Given the description of an element on the screen output the (x, y) to click on. 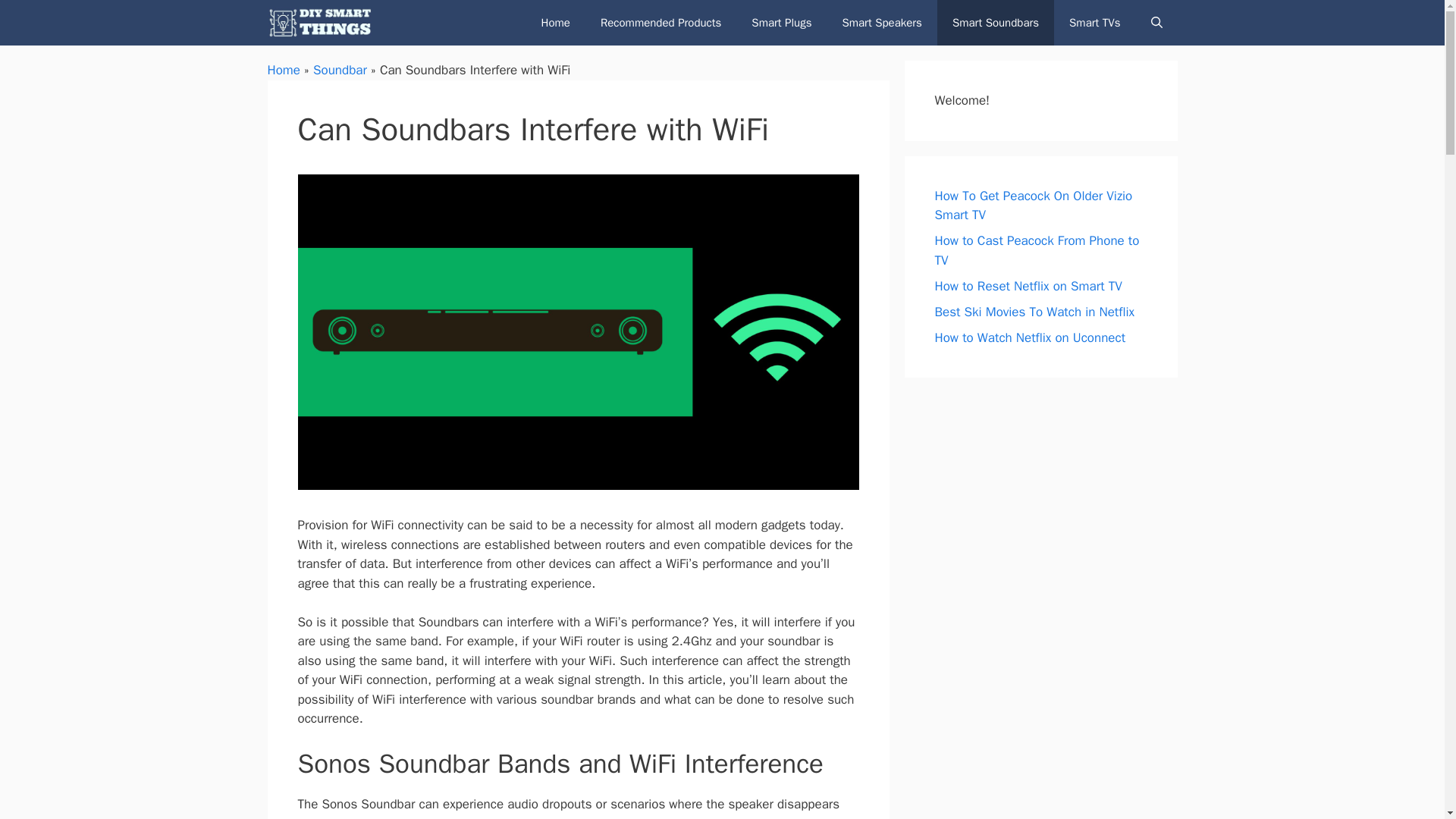
Recommended Products (660, 22)
Home (282, 69)
Best Ski Movies To Watch in Netflix (1034, 311)
Smart Plugs (781, 22)
Soundbar (339, 69)
How To Get Peacock On Older Vizio Smart TV (1033, 205)
How to Reset Netflix on Smart TV (1027, 285)
Smart Speakers (881, 22)
Smart TVs (1094, 22)
Home (555, 22)
